Given the description of an element on the screen output the (x, y) to click on. 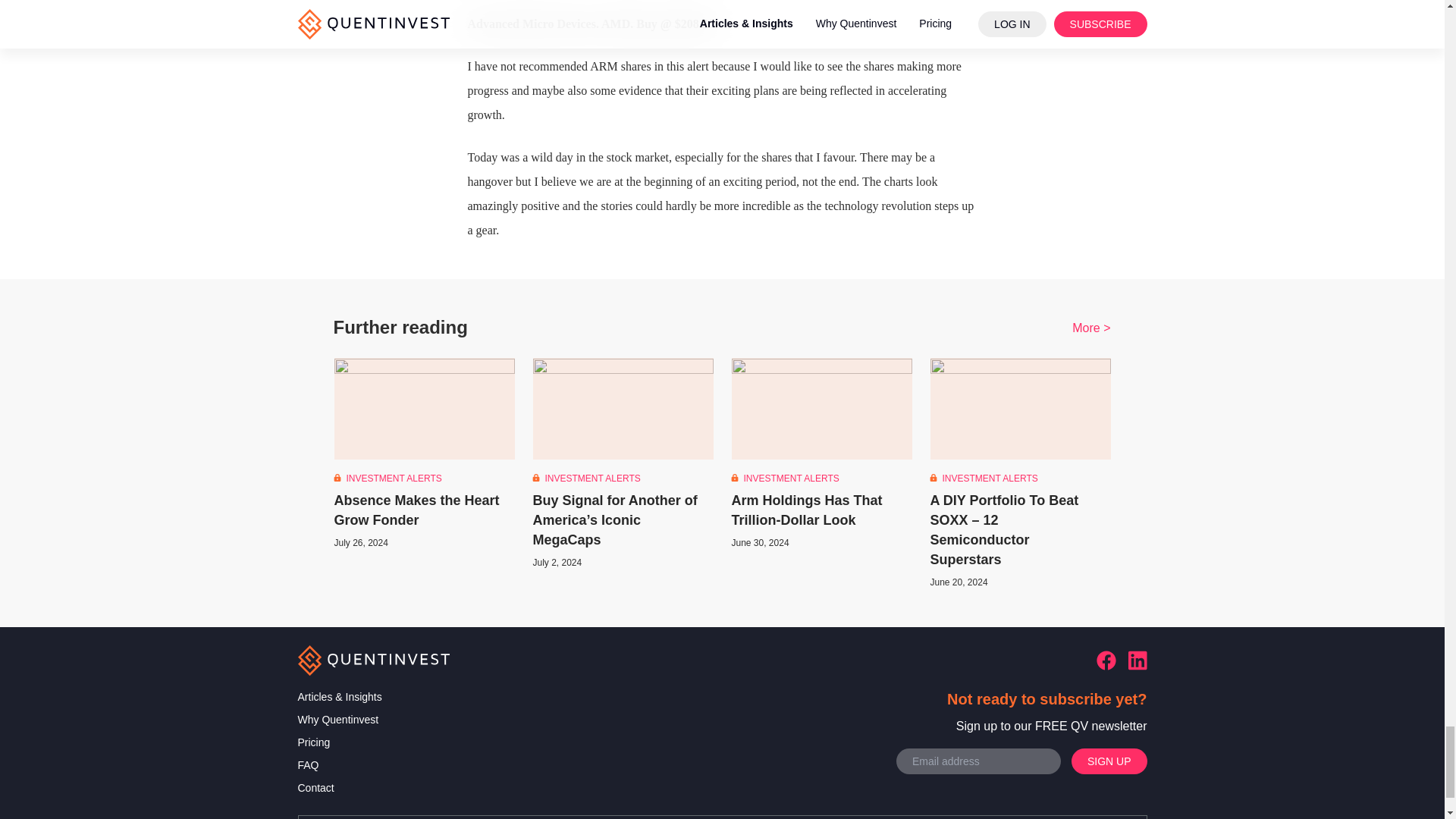
Why Quentinvest (339, 719)
Contact (339, 787)
Sign Up (1109, 760)
Sign Up (1109, 760)
Pricing (339, 742)
FAQ (339, 764)
